Given the description of an element on the screen output the (x, y) to click on. 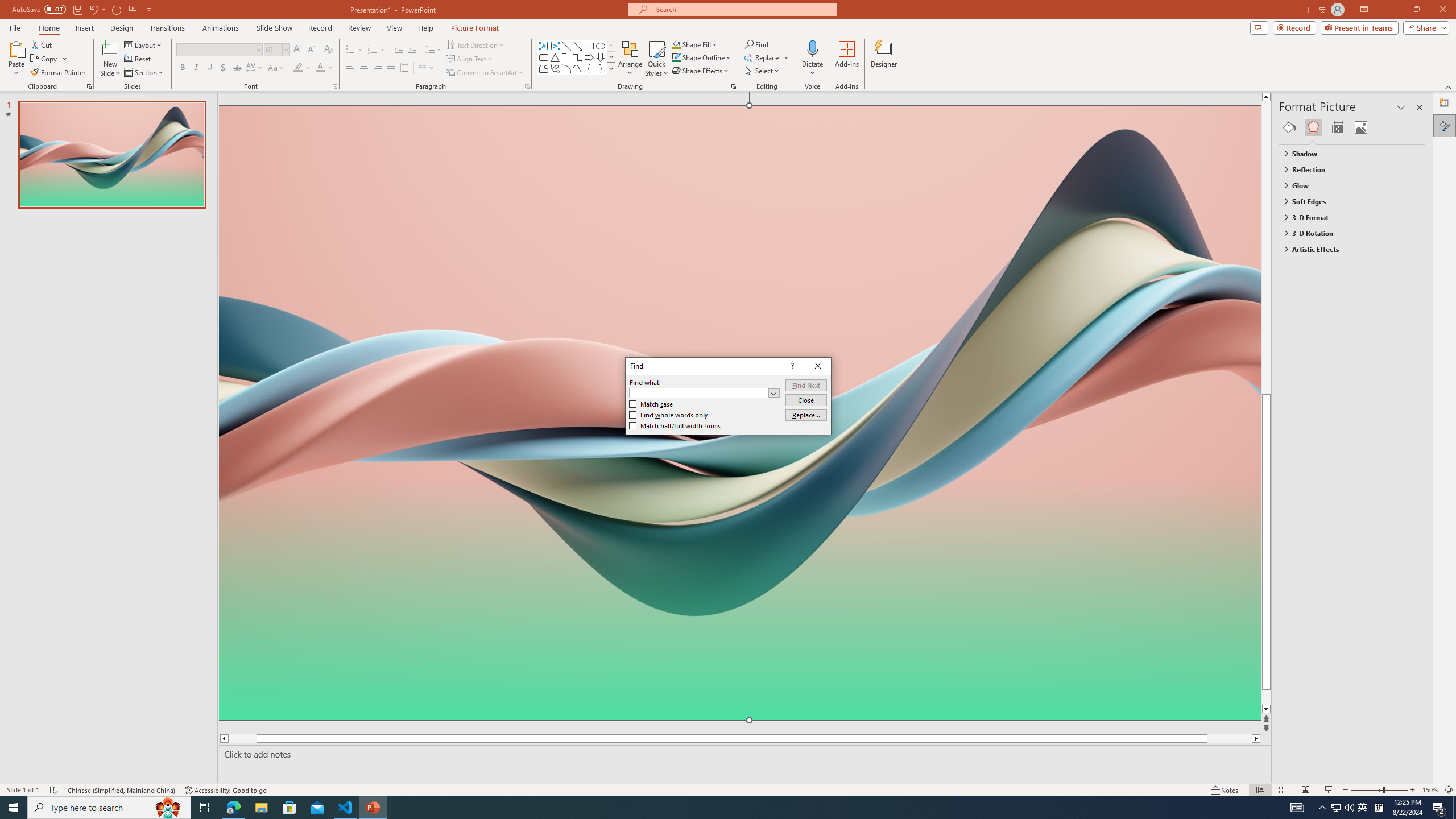
Align Left (349, 67)
Underline (209, 67)
More Options (812, 68)
Find what (698, 392)
Shape Outline Blue, Accent 1 (675, 56)
Shape Effects (700, 69)
Accessibility Checker Accessibility: Good to go (226, 790)
Paragraph... (526, 85)
Decorative Locked (739, 579)
Soft Edges (1347, 201)
Text Highlight Color Yellow (297, 67)
Replace... (767, 56)
Isosceles Triangle (554, 57)
